Given the description of an element on the screen output the (x, y) to click on. 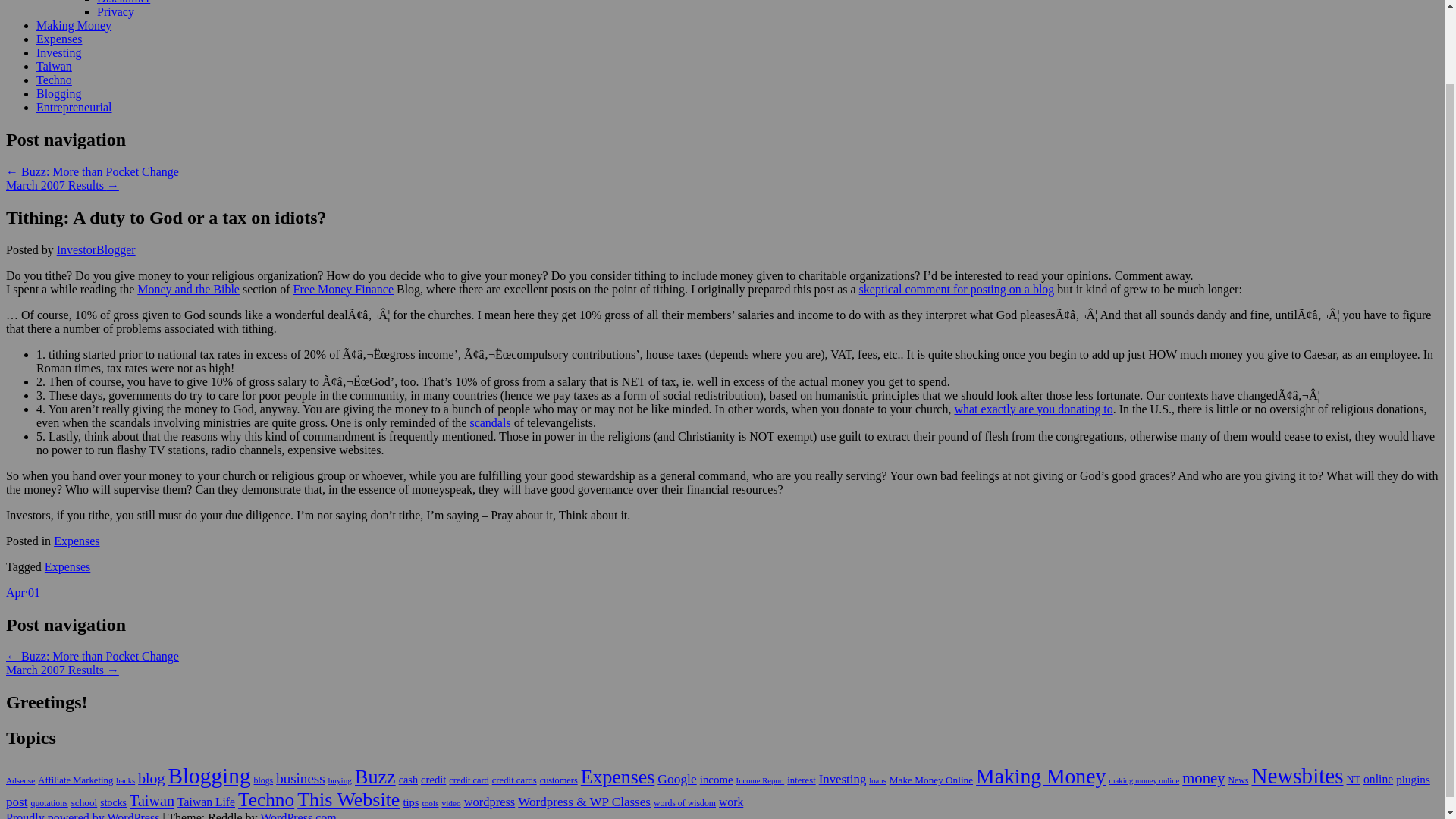
Permalink to Tithing: A duty to God or a tax on idiots? (22, 592)
what exactly are you donating to (1032, 408)
Blogging (208, 775)
Free Money Finance (343, 288)
Expenses (58, 38)
Investing (58, 51)
cash (407, 779)
blog (151, 777)
Buzz (375, 776)
credit (432, 779)
buying (340, 779)
Expenses (67, 566)
scandals (489, 422)
Adsense (19, 779)
business (300, 778)
